Given the description of an element on the screen output the (x, y) to click on. 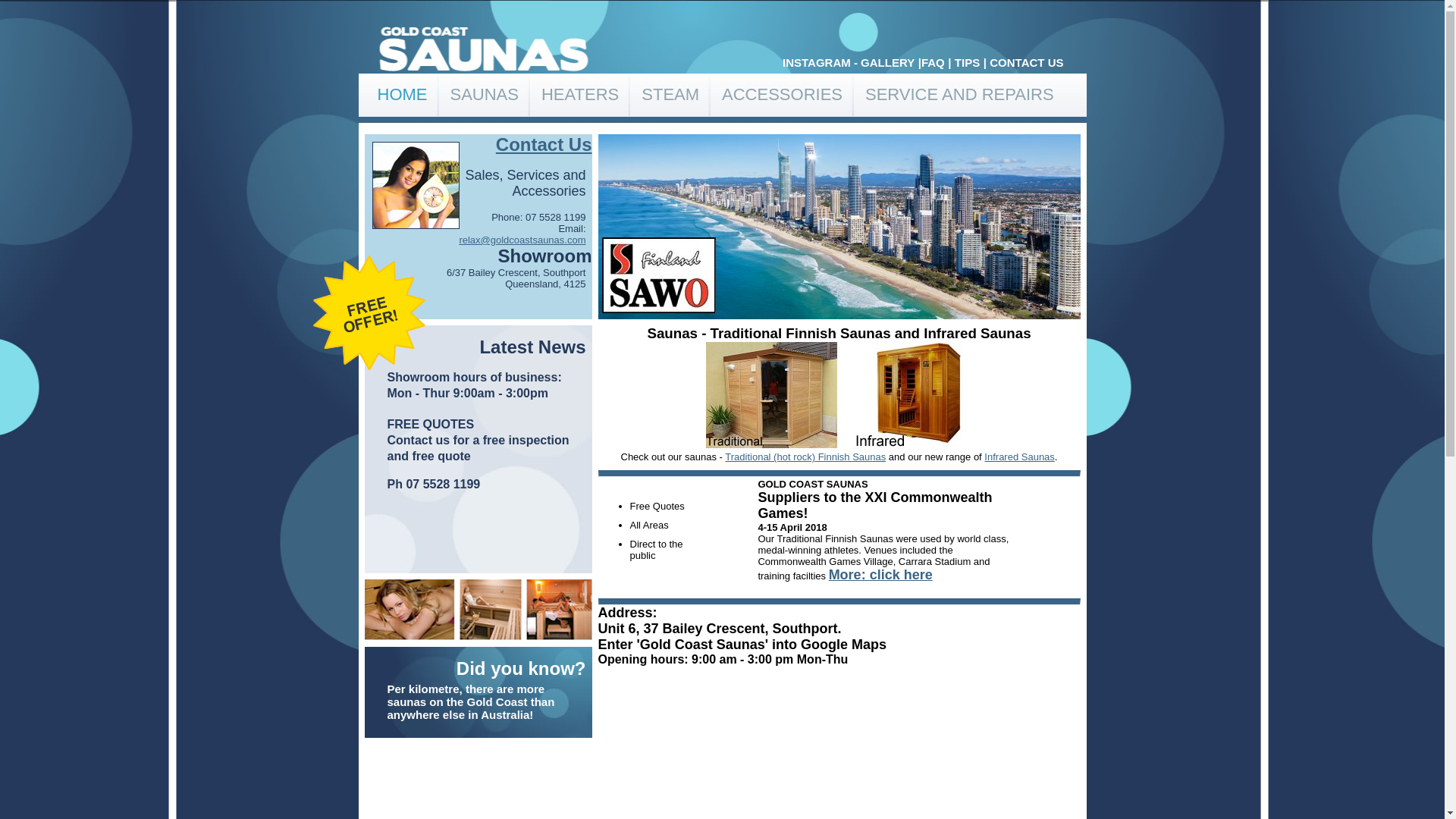
INSTAGRAM - GALLERY Element type: text (848, 62)
CONTACT US Element type: text (1026, 62)
Contact Us Element type: text (543, 144)
FAQ Element type: text (932, 62)
ACCESSORIES Element type: text (781, 94)
HEATERS Element type: text (580, 94)
STEAM Element type: text (670, 94)
Traditional (hot rock) Finnish Saunas Element type: text (804, 456)
Infrared Saunas Element type: text (1019, 456)
SERVICE AND REPAIRS Element type: text (959, 94)
TIPS Element type: text (966, 62)
More: click here Element type: text (880, 575)
HOME Element type: text (401, 94)
relax@goldcoastsaunas.com Element type: text (521, 239)
SAUNAS Element type: text (483, 94)
